Given the description of an element on the screen output the (x, y) to click on. 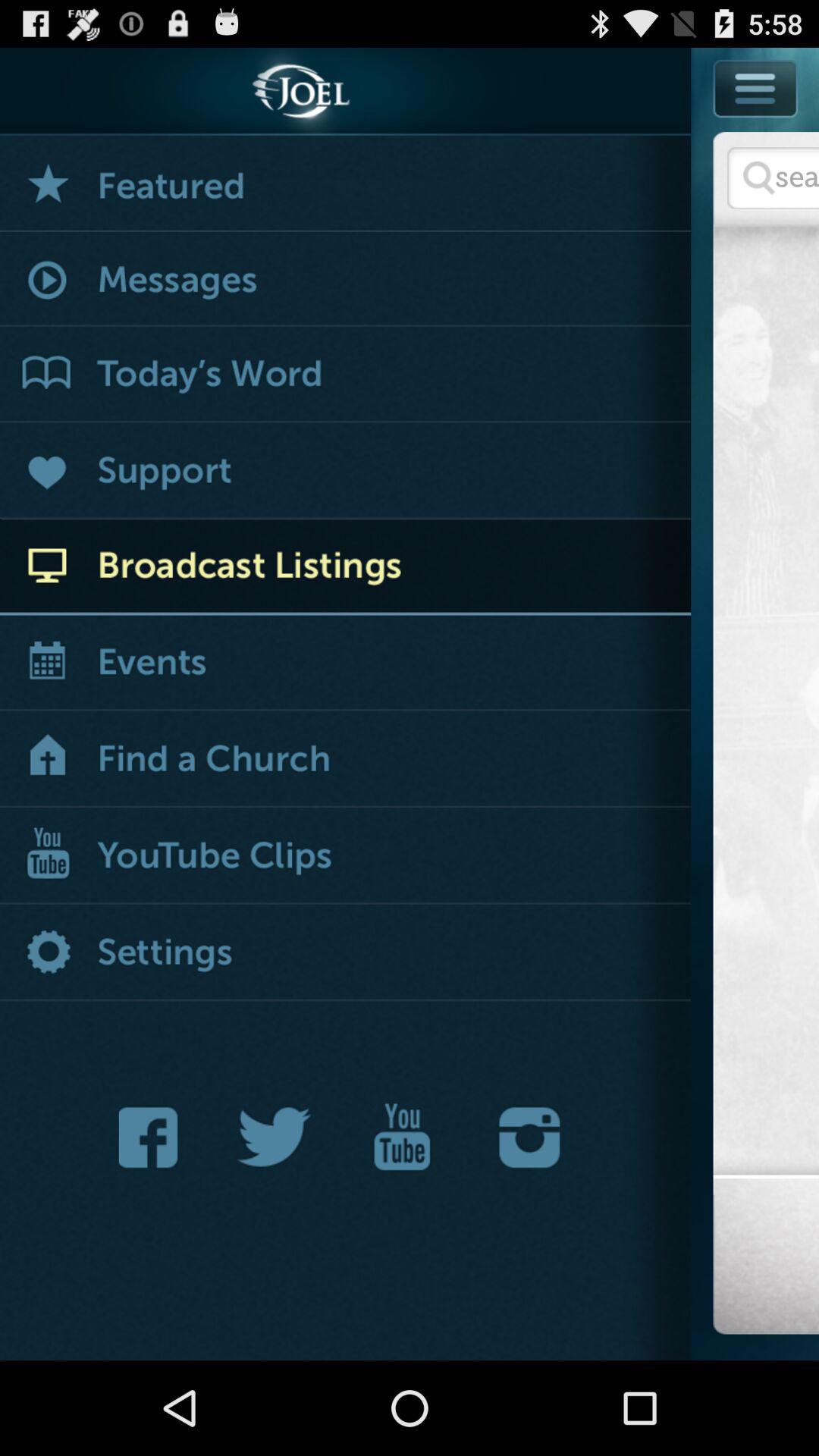
visit app 's twitter (274, 1137)
